Given the description of an element on the screen output the (x, y) to click on. 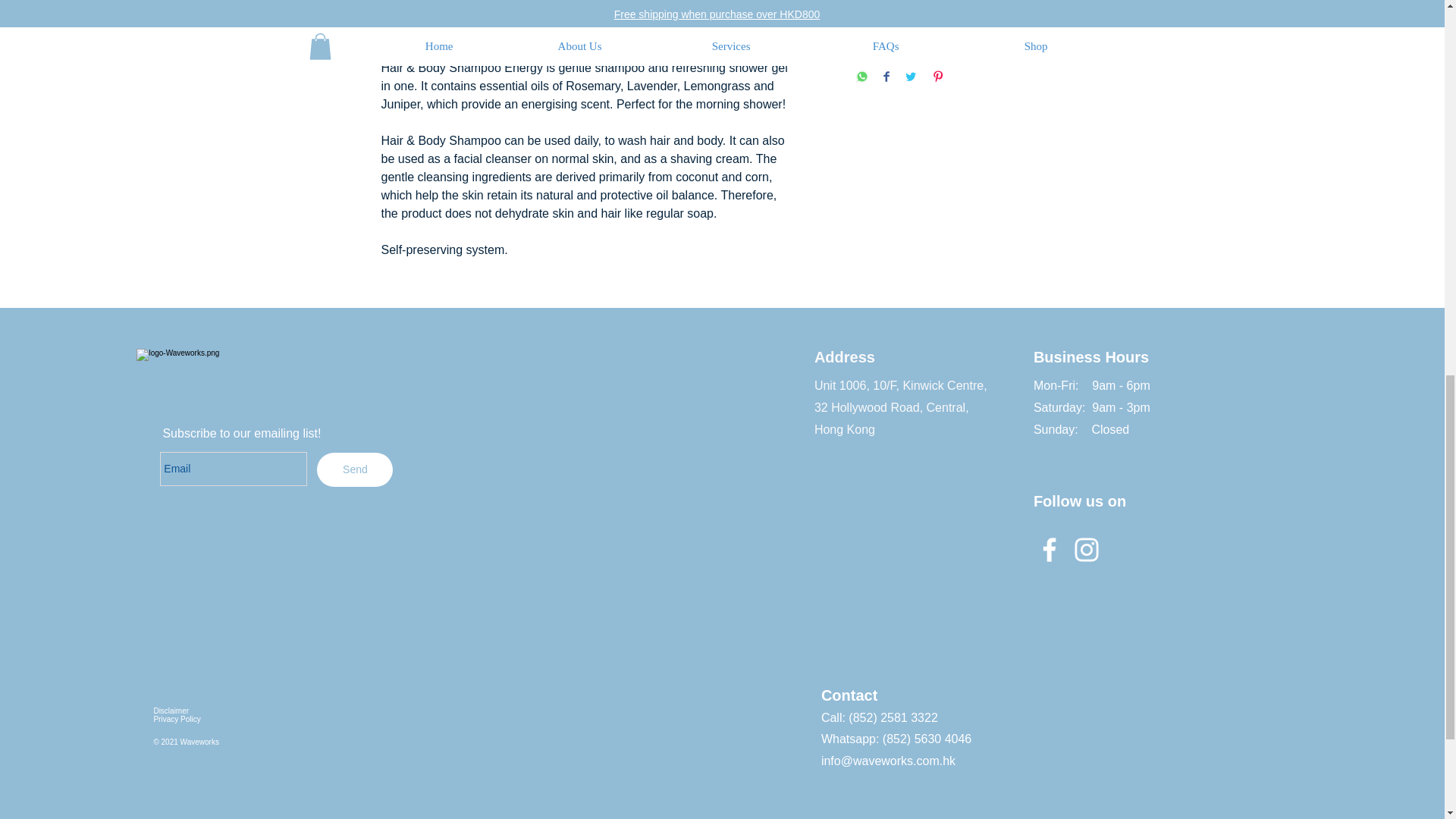
Use right and left arrows to navigate between tabs (579, 19)
Use right and left arrows to navigate between tabs (673, 19)
1 (885, 0)
Use right and left arrows to navigate between tabs (456, 19)
Privacy Policy (176, 718)
Add to Cart (959, 40)
Disclaimer (170, 710)
Send (355, 469)
